Given the description of an element on the screen output the (x, y) to click on. 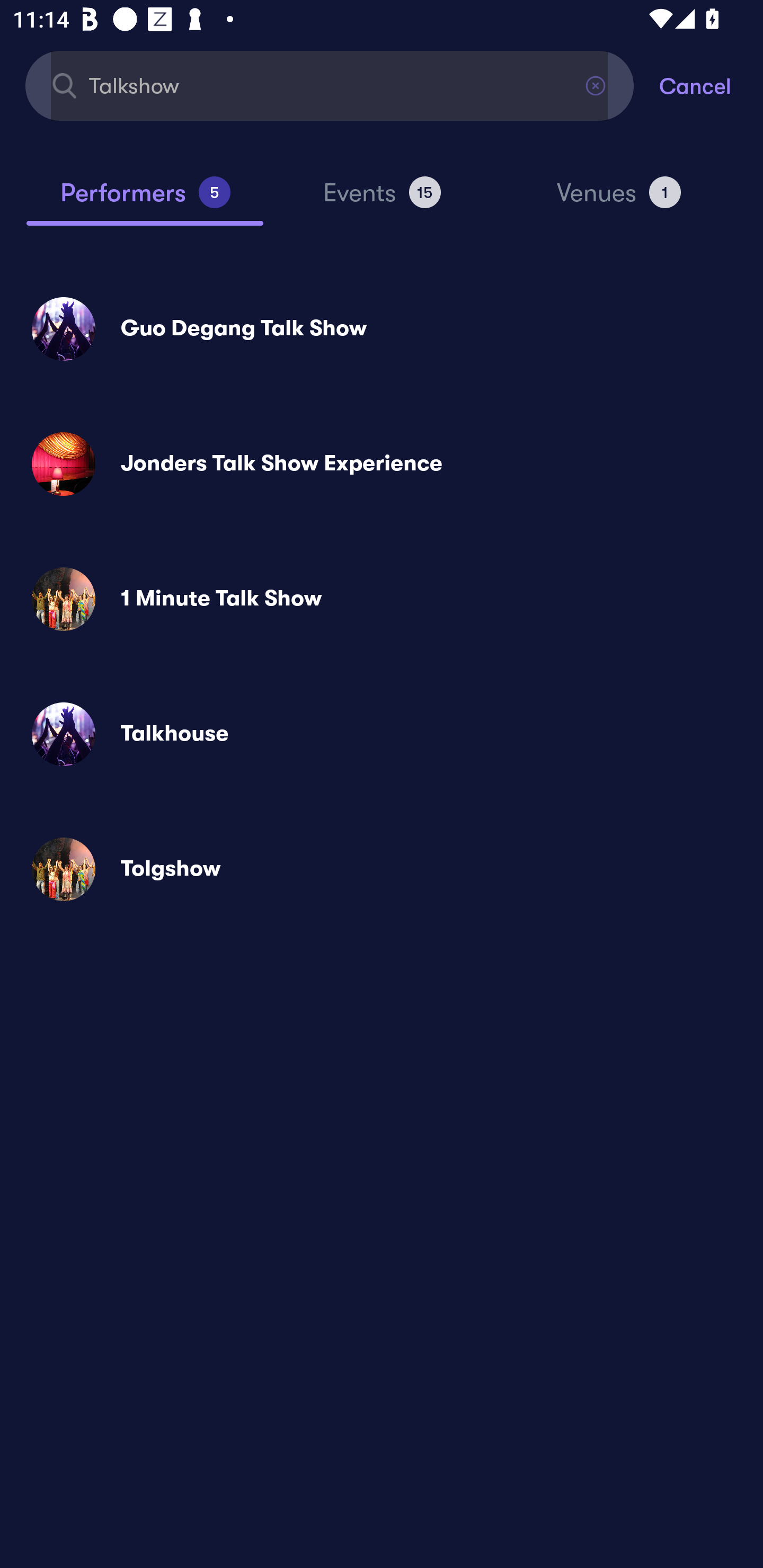
Talkshow Find (329, 85)
Talkshow Find (329, 85)
Cancel (711, 85)
Performers 5 (144, 200)
Events 15 (381, 200)
Venues 1 (618, 200)
Guo Degang Talk Show (381, 328)
Jonders Talk Show Experience (381, 464)
1 Minute Talk Show (381, 598)
Talkhouse (381, 734)
Tolgshow (381, 869)
